Given the description of an element on the screen output the (x, y) to click on. 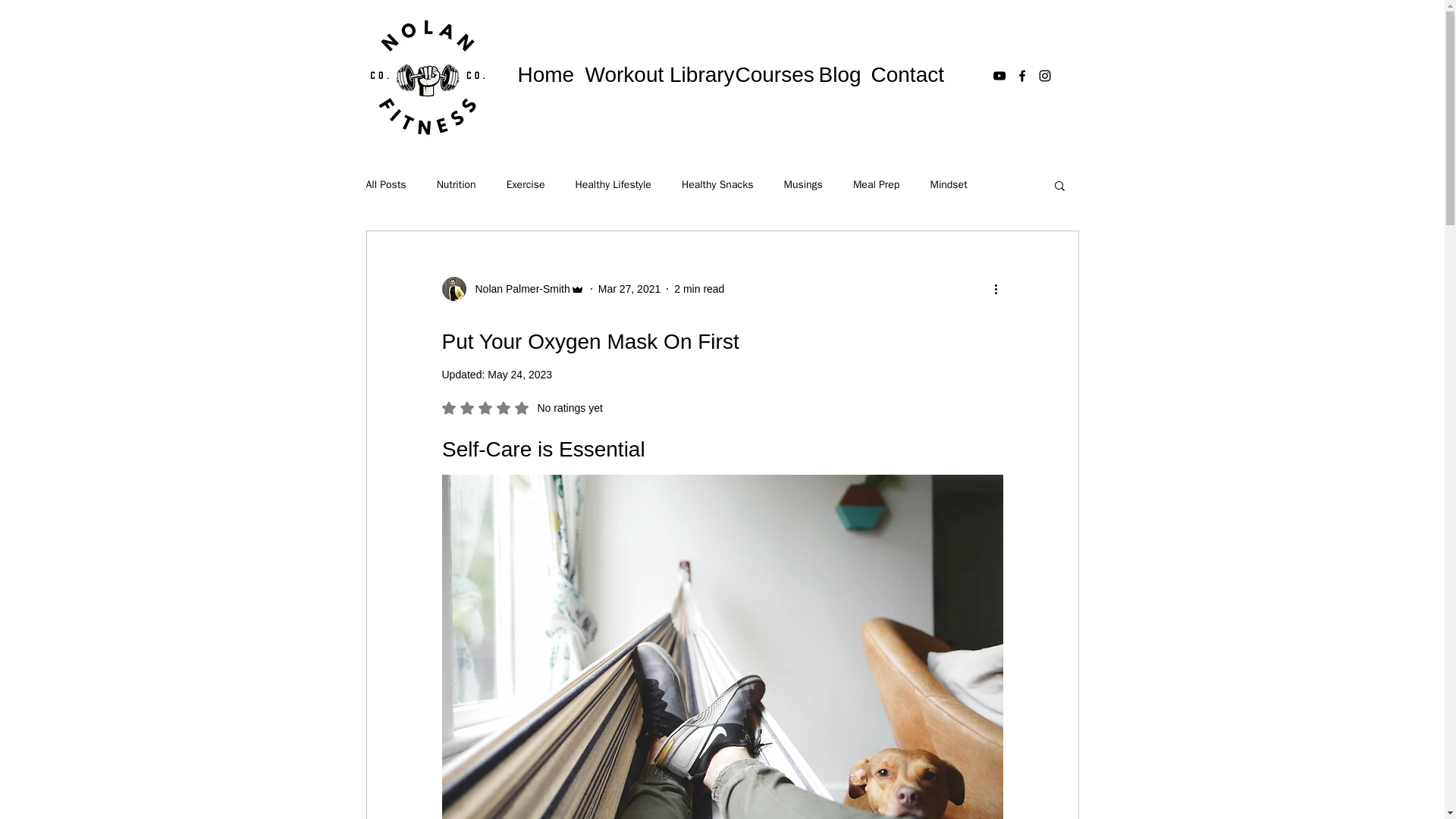
Healthy Lifestyle (612, 184)
Nolan Palmer-Smith (512, 288)
Courses (769, 71)
Exercise (525, 184)
2 min read (698, 287)
Mindset (948, 184)
Meal Prep (876, 184)
Nolan Palmer-Smith (517, 288)
Blog (836, 71)
Musings (802, 184)
